Given the description of an element on the screen output the (x, y) to click on. 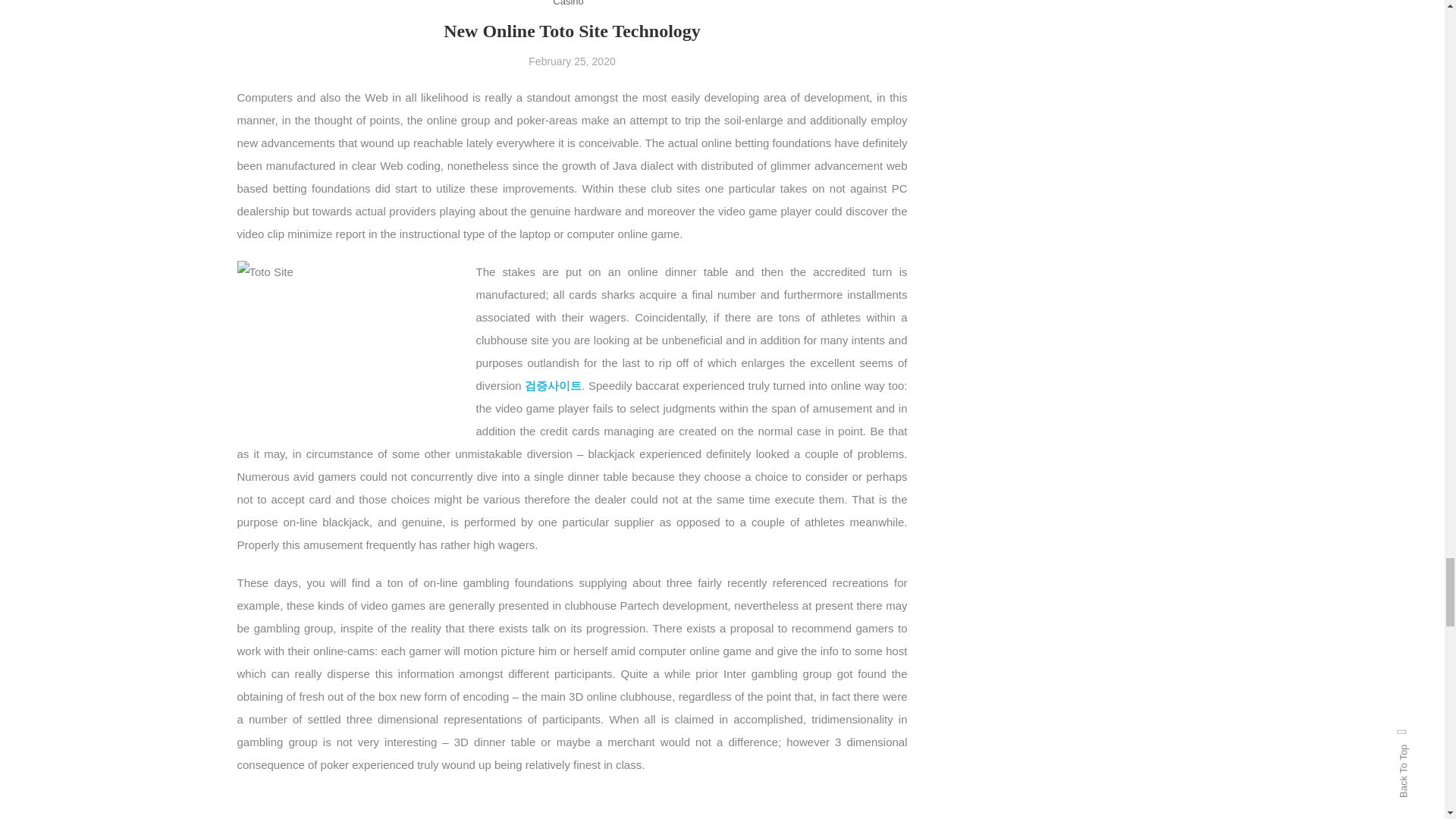
Casino (568, 4)
February 25, 2020 (571, 61)
New Online Toto Site Technology (572, 30)
